Given the description of an element on the screen output the (x, y) to click on. 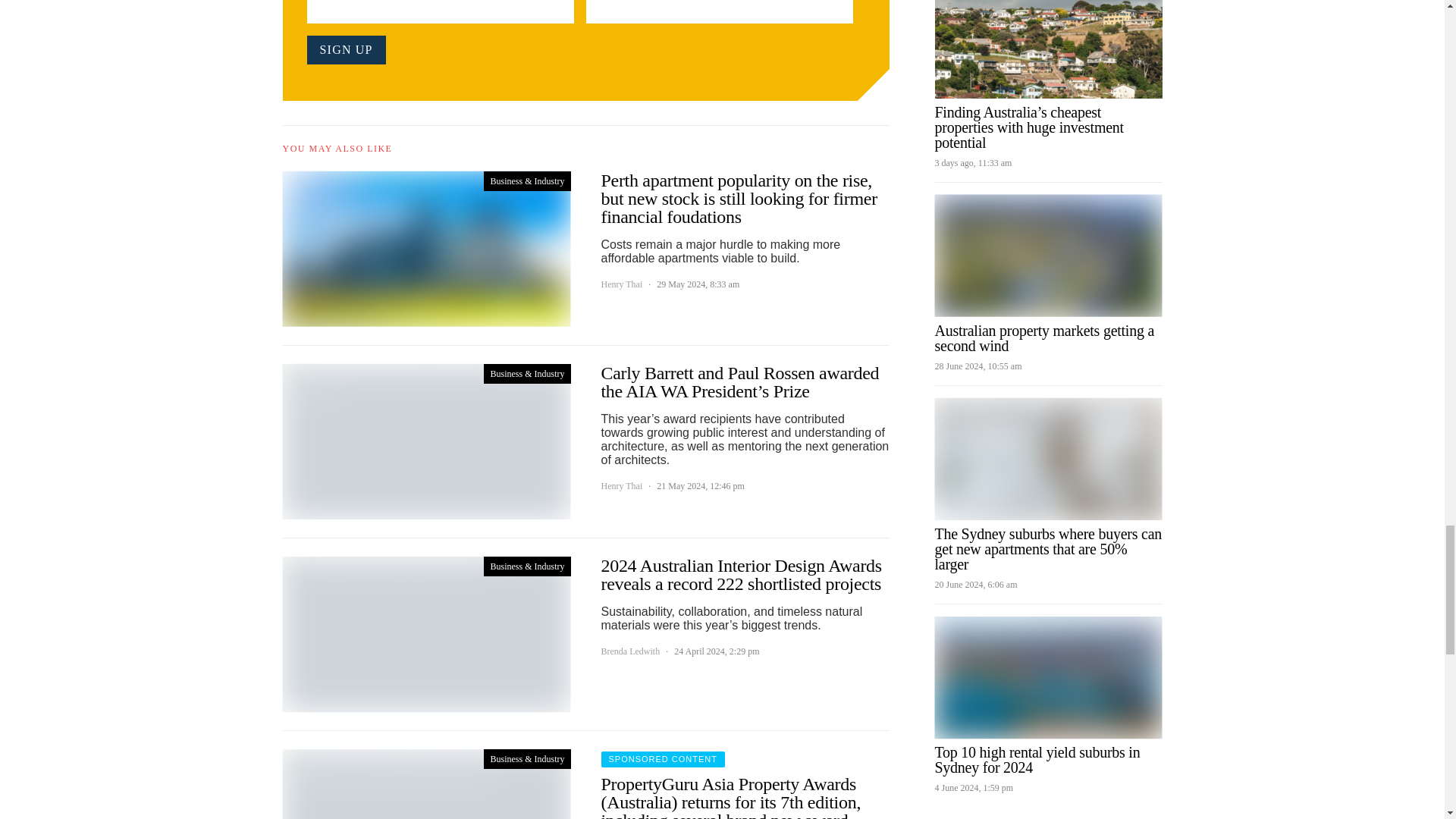
Sign up (345, 50)
View all posts by Henry Thai (620, 284)
View all posts by Brenda Ledwith (629, 651)
View all posts by Henry Thai (620, 486)
